Given the description of an element on the screen output the (x, y) to click on. 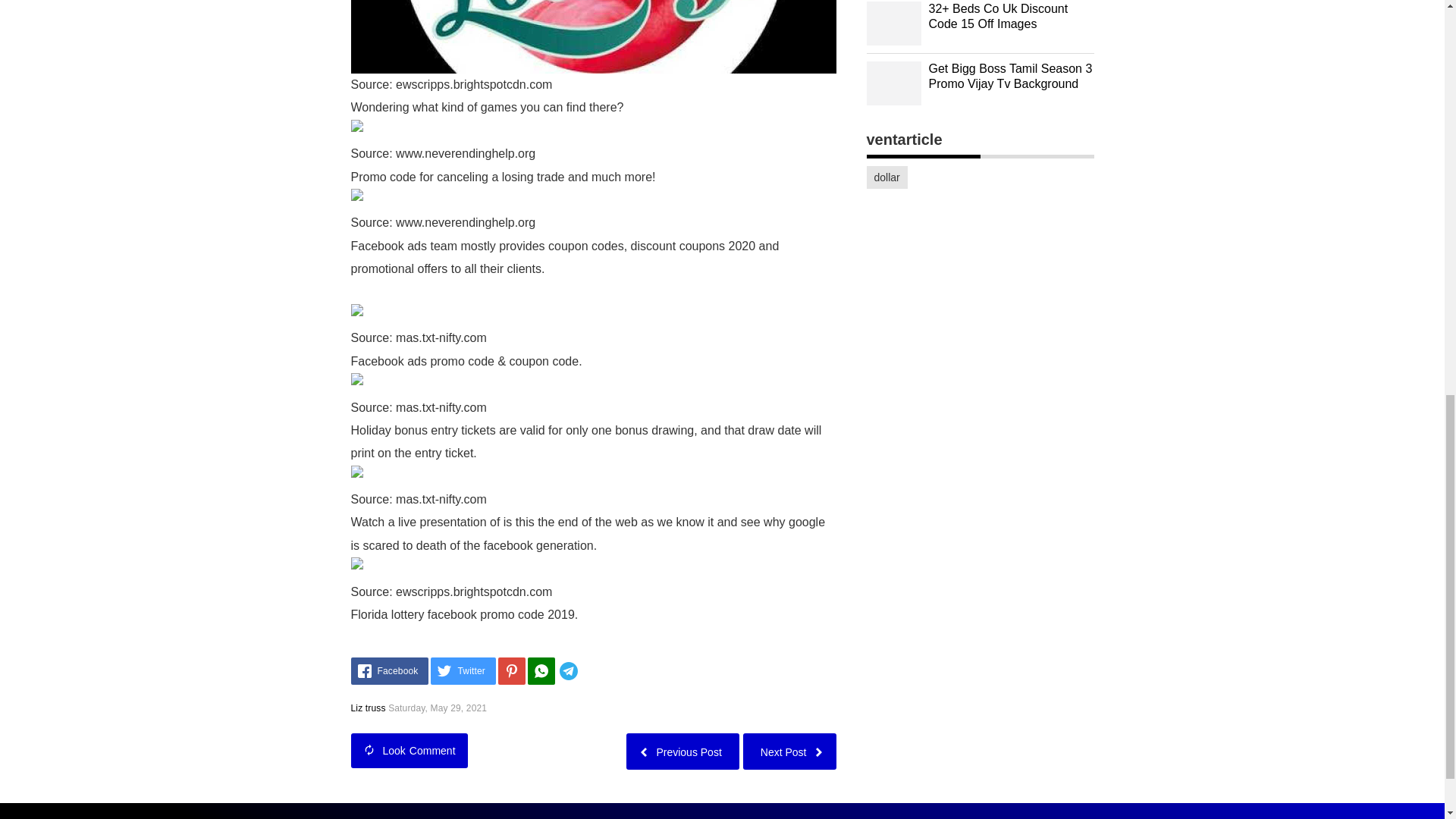
Liz truss (367, 707)
Twitter (462, 670)
Newer Post (788, 751)
Previous Post (682, 751)
Older Post (682, 751)
Next Post (788, 751)
Share on Pinterest (511, 670)
Share to Telegram (590, 670)
Facebook (389, 670)
Telegram (590, 670)
